Given the description of an element on the screen output the (x, y) to click on. 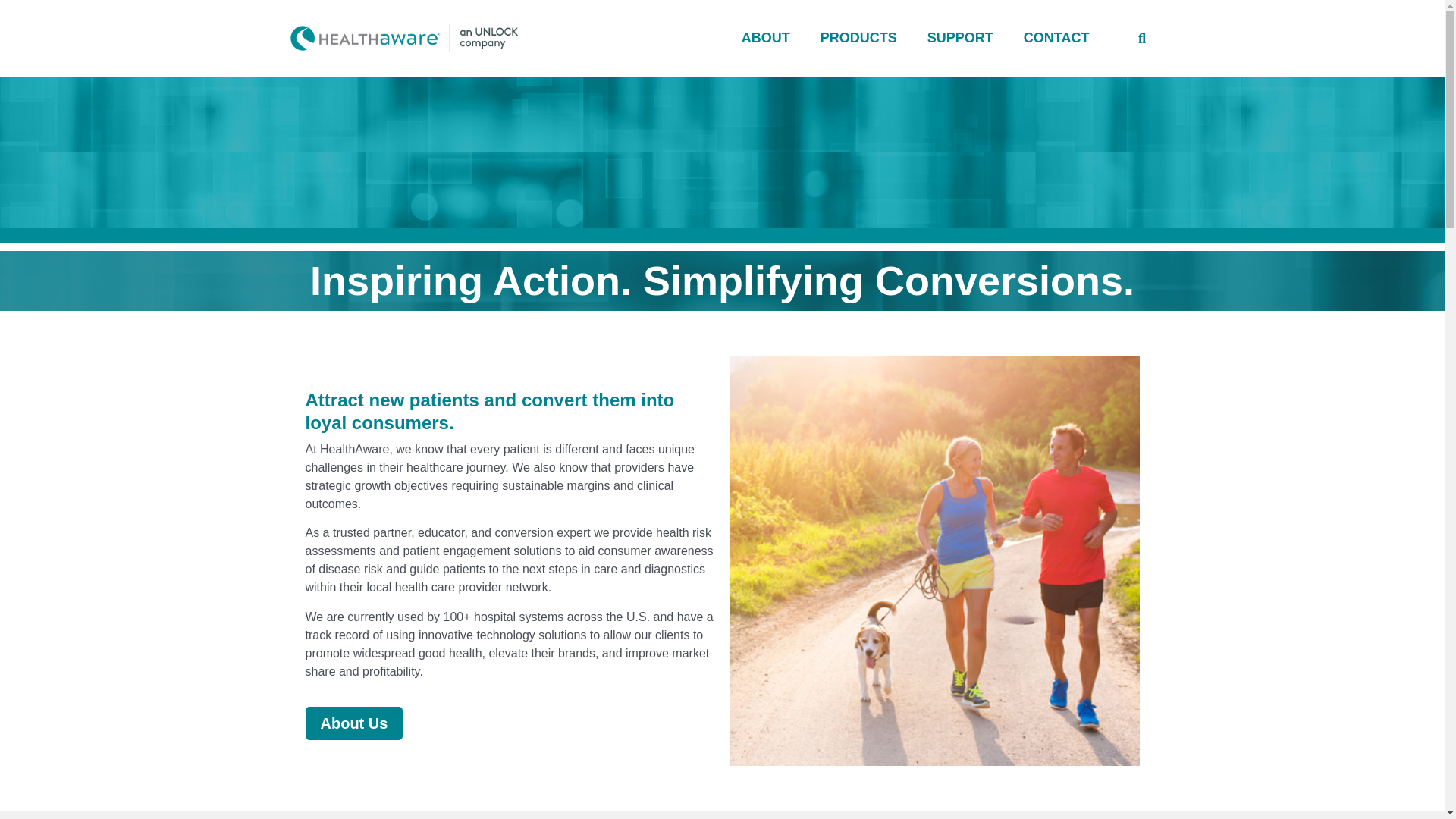
SUPPORT (960, 38)
ABOUT (765, 38)
About Us (353, 723)
CONTACT (1057, 38)
PRODUCTS (858, 38)
